Given the description of an element on the screen output the (x, y) to click on. 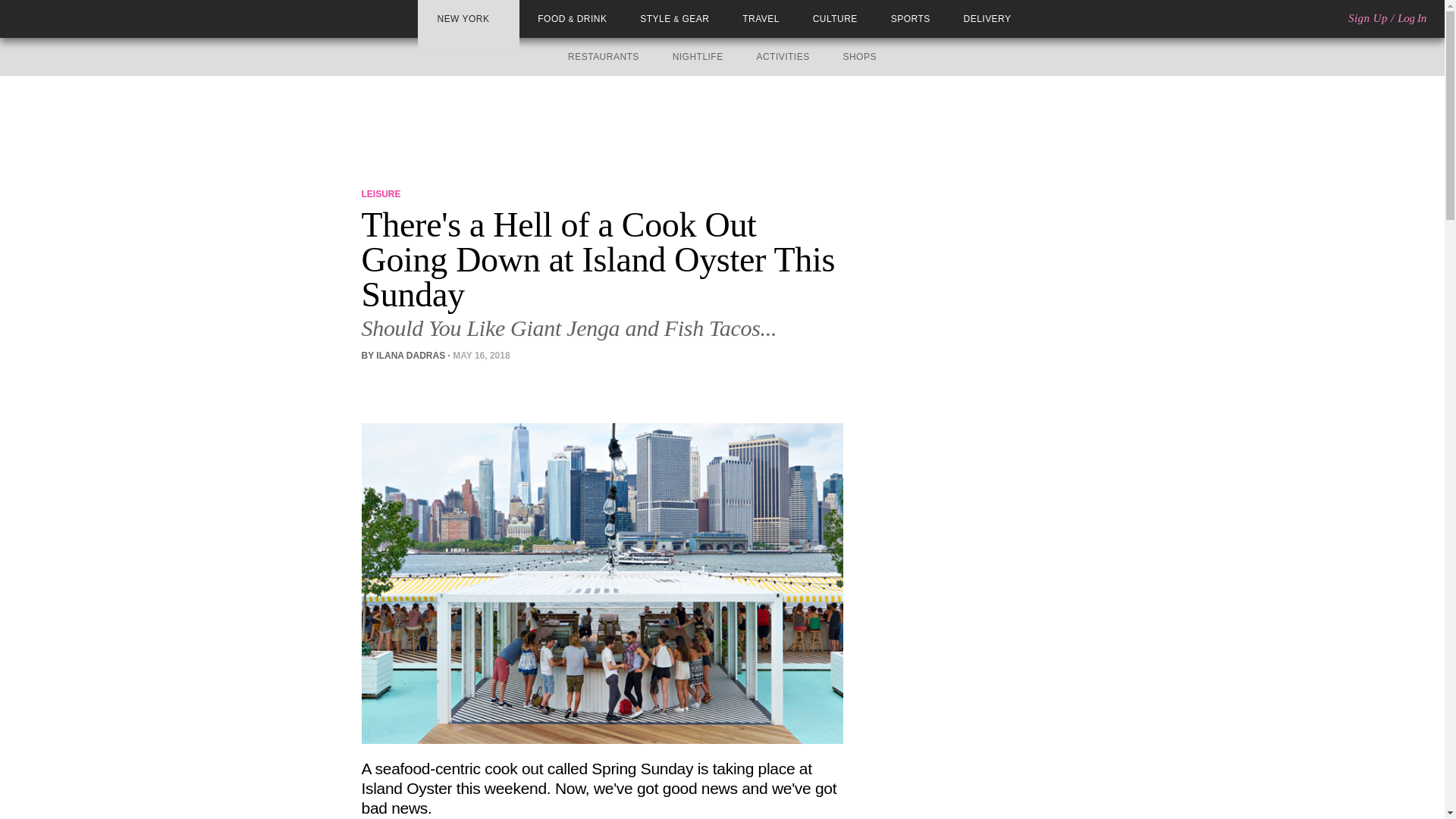
Save (437, 383)
UrbanDaddy (67, 18)
Sign Up (1367, 18)
DELIVERY (987, 18)
3rd party ad content (721, 124)
SPORTS (910, 18)
SHOPS (859, 56)
Log In (1411, 18)
TRAVEL (760, 18)
NIGHTLIFE (697, 56)
